Given the description of an element on the screen output the (x, y) to click on. 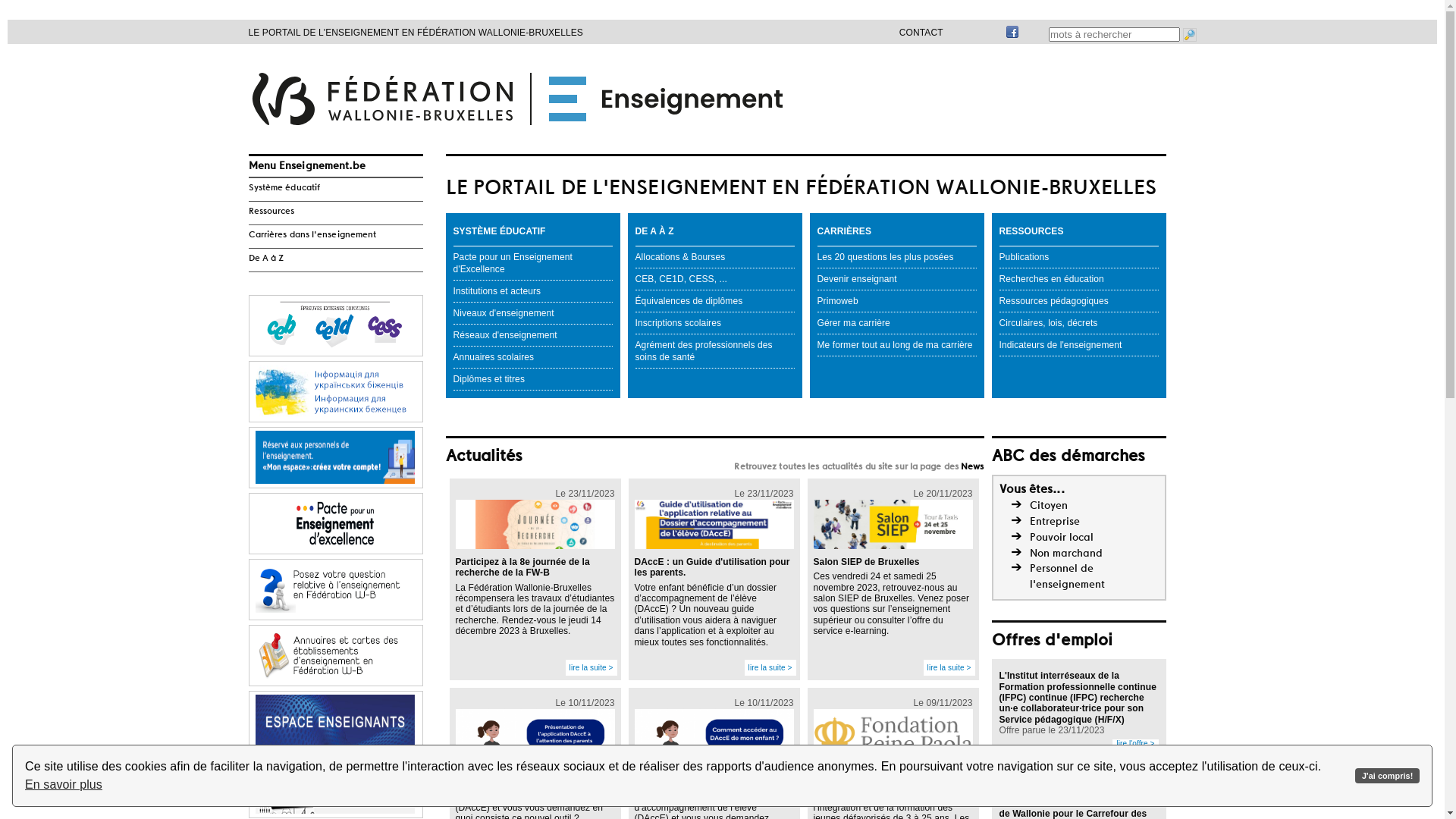
Pacte pour un Enseignement d'Excellence Element type: text (532, 262)
RESSOURCES Element type: text (1078, 230)
CONTACT Element type: text (921, 32)
Publications Element type: text (1078, 256)
lien vers le site Mon Espace                          Element type: hover (335, 458)
Pouvoir local Element type: text (1061, 537)
Ressources Element type: text (335, 211)
Personnel de l'enseignement Element type: text (1066, 576)
lien vers la page des annuaires scolaires             Element type: hover (335, 656)
Entreprise Element type: text (1054, 521)
lien vers le site du pacte d'excellence               Element type: hover (335, 524)
CEB, CE1D, CESS, ... Element type: text (714, 278)
lien vers la page des communiques de presse           Element type: hover (335, 787)
Institutions et acteurs Element type: text (532, 290)
Niveaux d'enseignement Element type: text (532, 312)
En savoir plus Element type: text (63, 784)
Citoyen Element type: text (1048, 505)
Allocations & Bourses Element type: text (714, 256)
vers la page facebook du site Element type: hover (1012, 36)
Inscriptions scolaires Element type: text (714, 322)
lien vers la page espace enseignant                   Element type: hover (335, 721)
Annuaires scolaires Element type: text (532, 356)
Indicateurs de l'enseignement Element type: text (1078, 344)
J'ai compris! Element type: text (1387, 776)
Non marchand Element type: text (1065, 553)
lire la suite >
[Salon SIEP de Bruxelles] Element type: text (949, 667)
News Element type: text (971, 466)
Devenir enseignant Element type: text (896, 278)
lien vers le site FAQ+                                Element type: hover (335, 590)
Primoweb Element type: text (896, 300)
